Given the description of an element on the screen output the (x, y) to click on. 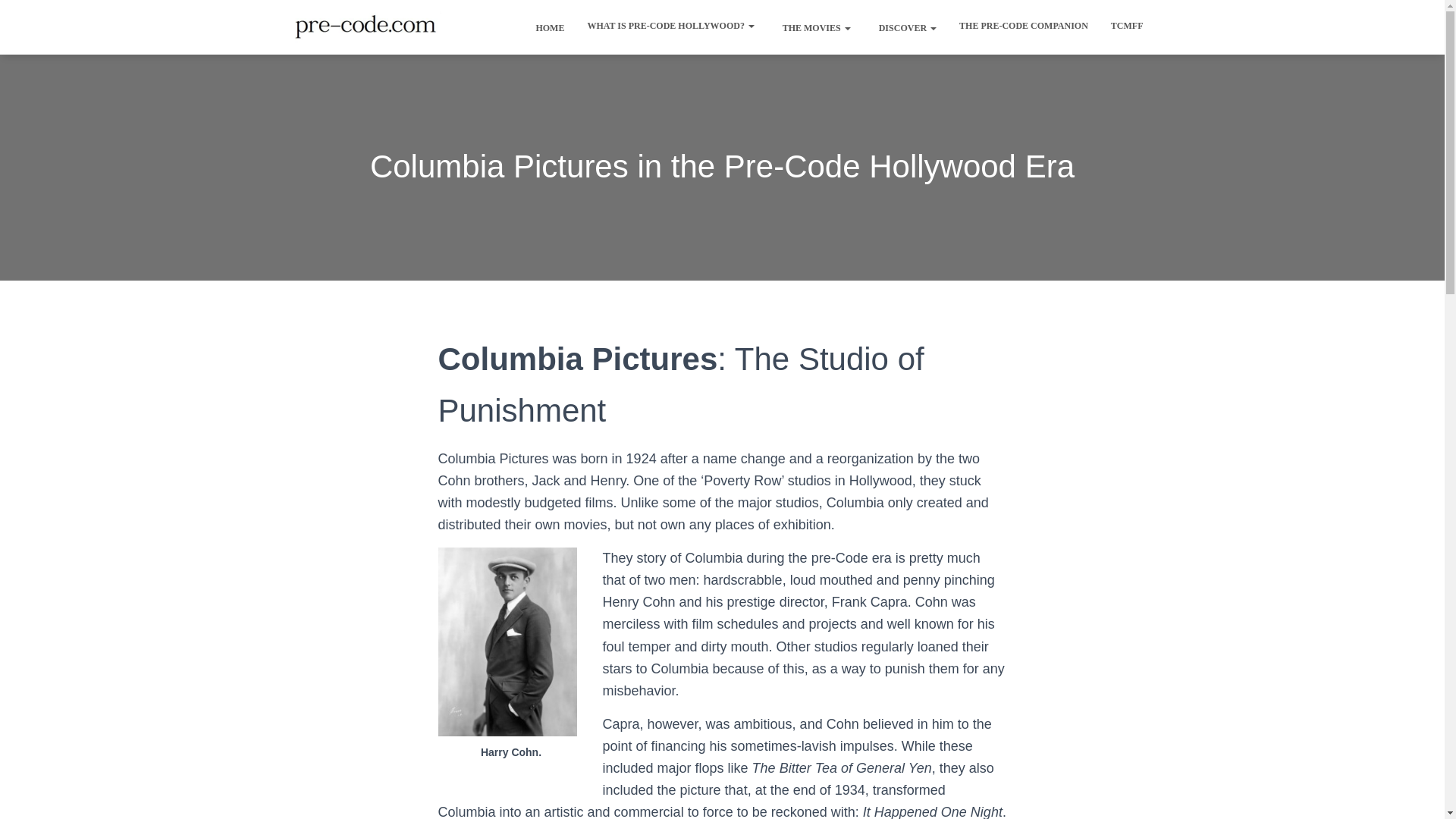
The Movies (813, 26)
What is Pre-Code Hollywood? (670, 26)
Discover (904, 26)
TCMFF (1126, 26)
 HOME (546, 26)
THE PRE-CODE COMPANION (1023, 26)
Pre-Code.Com (365, 26)
 THE MOVIES (813, 26)
WHAT IS PRE-CODE HOLLYWOOD? (670, 26)
 DISCOVER (904, 26)
